Given the description of an element on the screen output the (x, y) to click on. 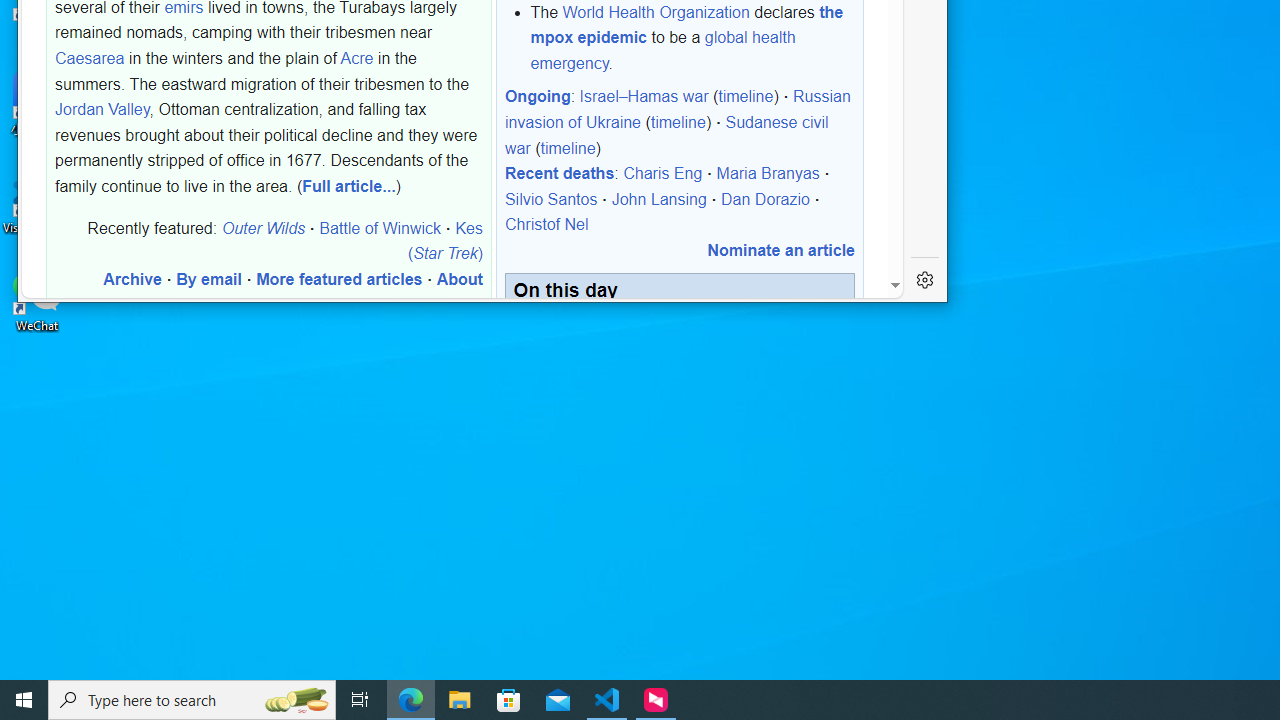
Jordan Valley (102, 109)
World Health Organization (655, 11)
Kes (Star Trek) (444, 240)
Nominate an article (780, 250)
Archive (132, 279)
Sudanese civil war (timeline) (666, 134)
By email (208, 279)
More featured articles (339, 279)
Ongoing (537, 96)
John Lansing (658, 199)
Acre (356, 58)
